Given the description of an element on the screen output the (x, y) to click on. 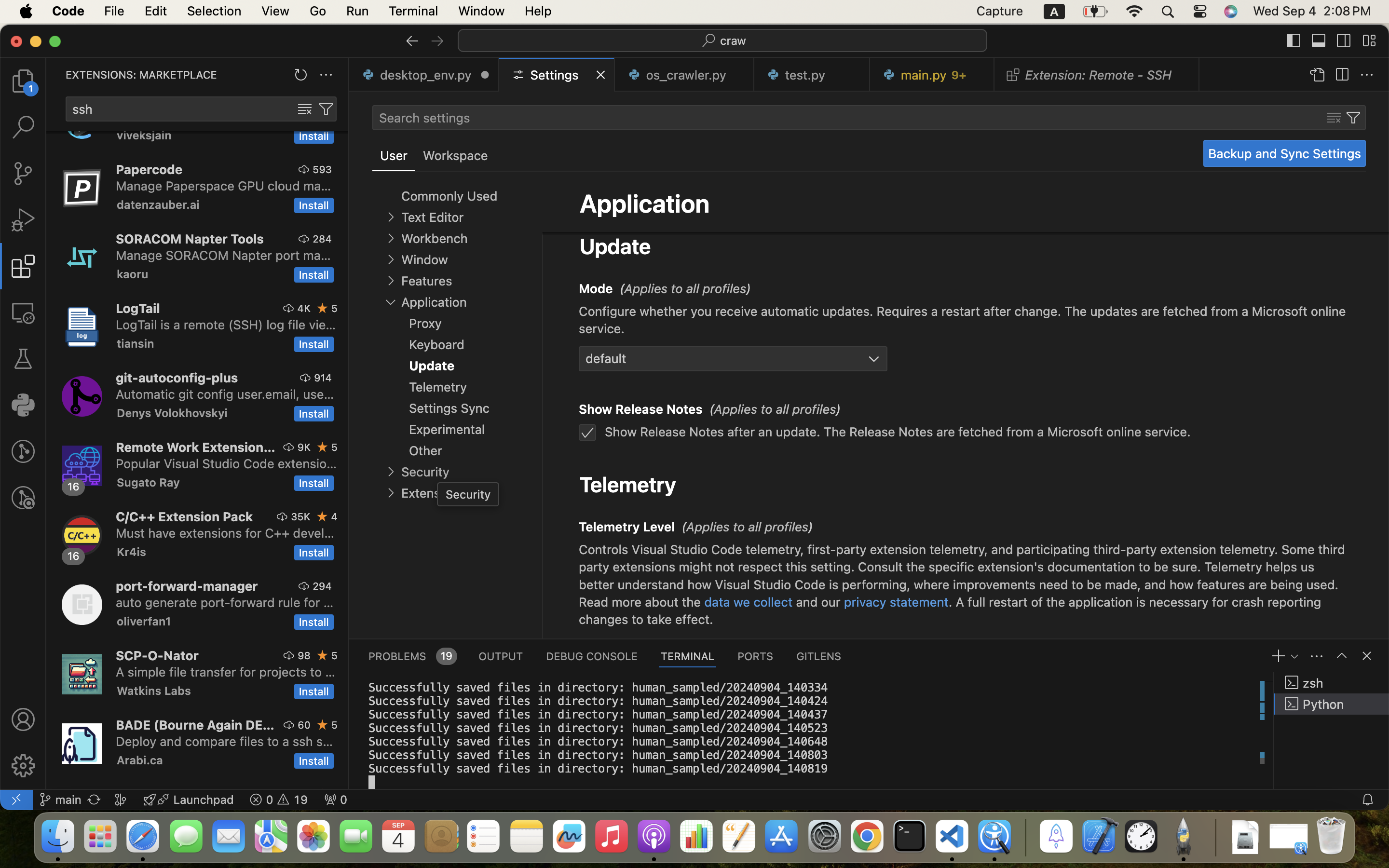
Deploy and compare files to a ssh server Element type: AXStaticText (224, 740)
0  Element type: AXRadioButton (23, 497)
port-forward-manager Element type: AXStaticText (186, 585)
 Element type: AXButton (1341, 74)
60 Element type: AXStaticText (304, 724)
